Given the description of an element on the screen output the (x, y) to click on. 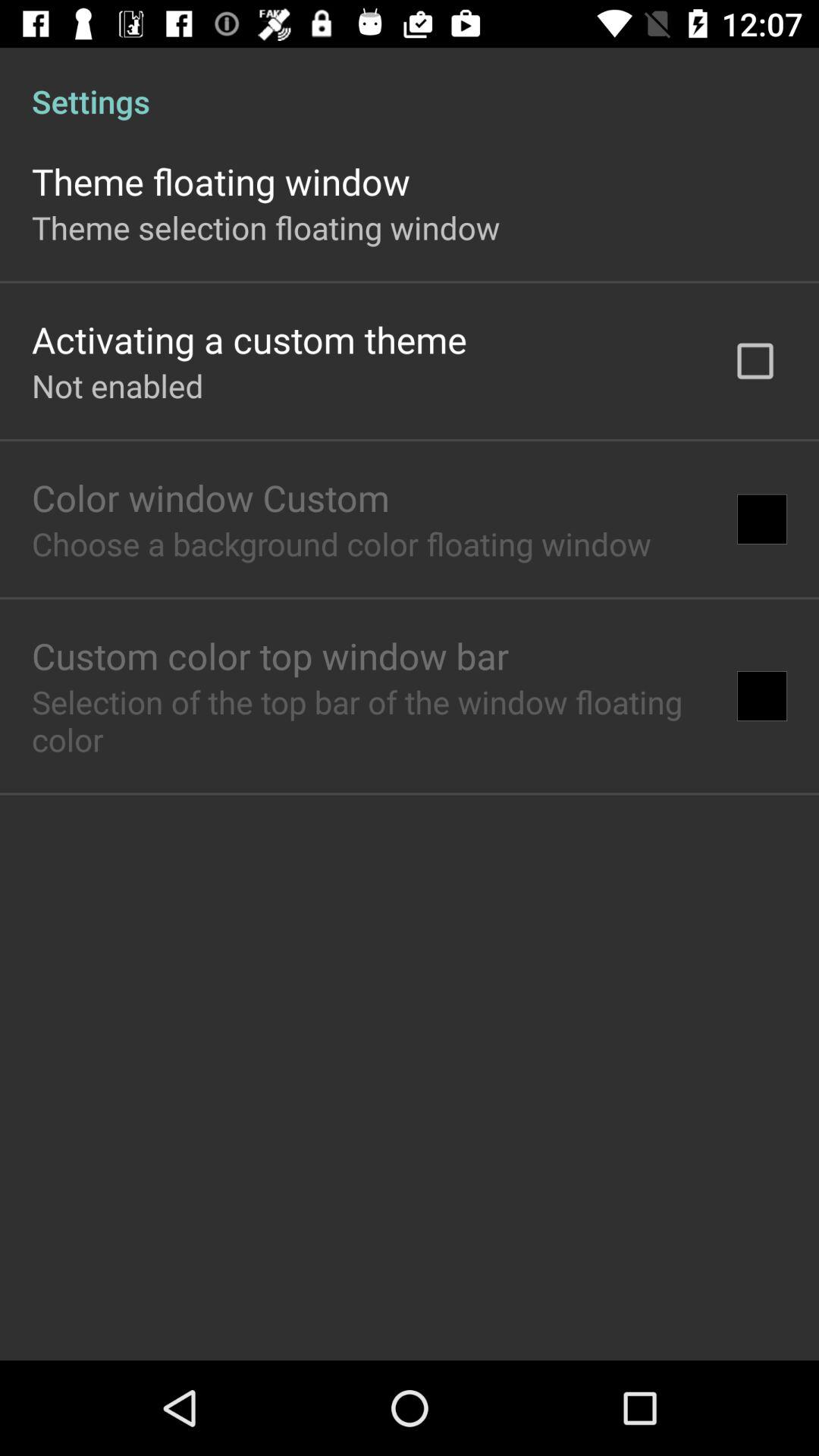
scroll to the selection of the item (368, 720)
